Given the description of an element on the screen output the (x, y) to click on. 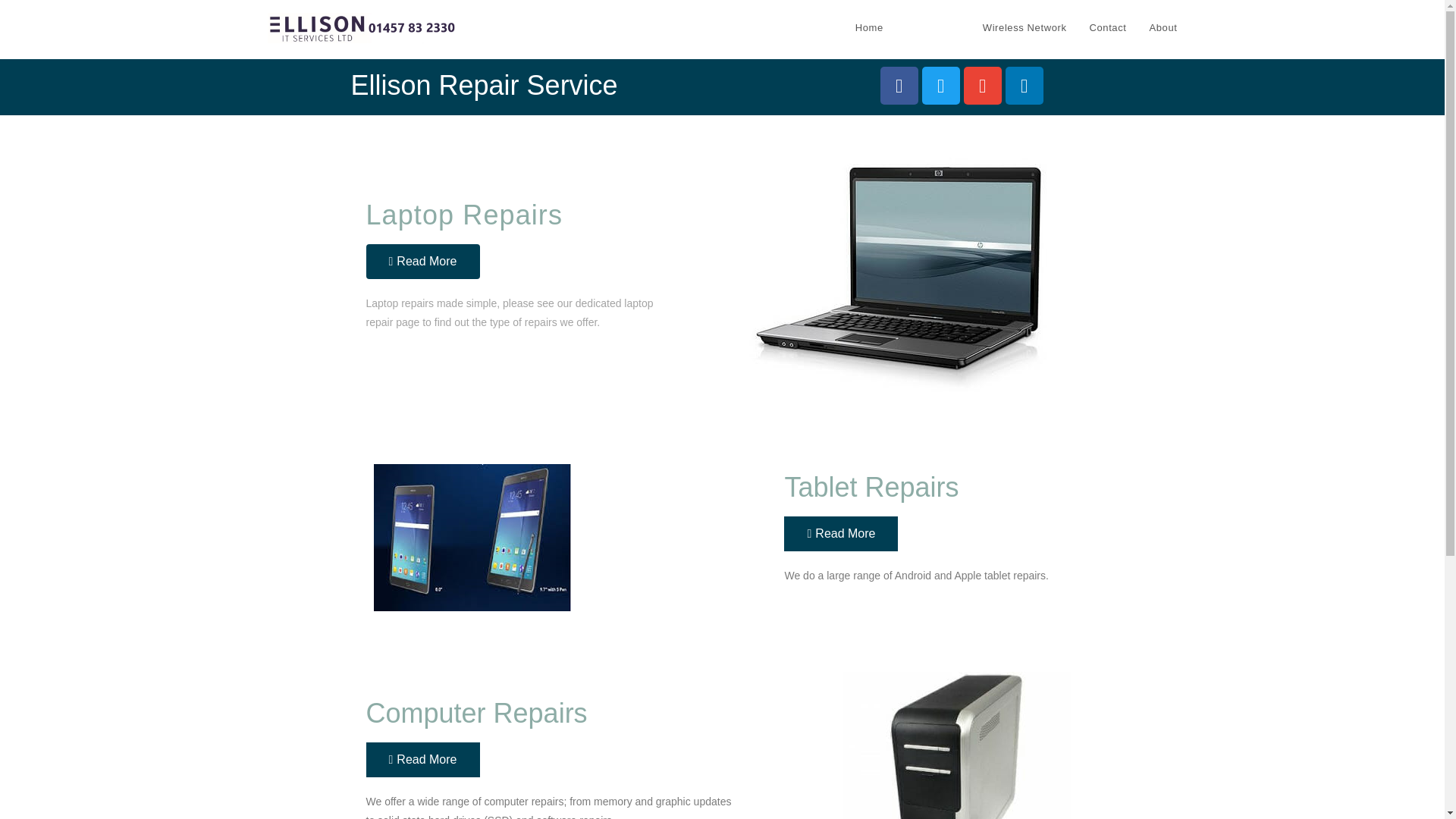
Wireless Network (1024, 28)
Services (933, 28)
Read More (841, 533)
Home (869, 28)
Contact (1108, 28)
Read More (422, 759)
Read More (422, 261)
About (1163, 28)
